Given the description of an element on the screen output the (x, y) to click on. 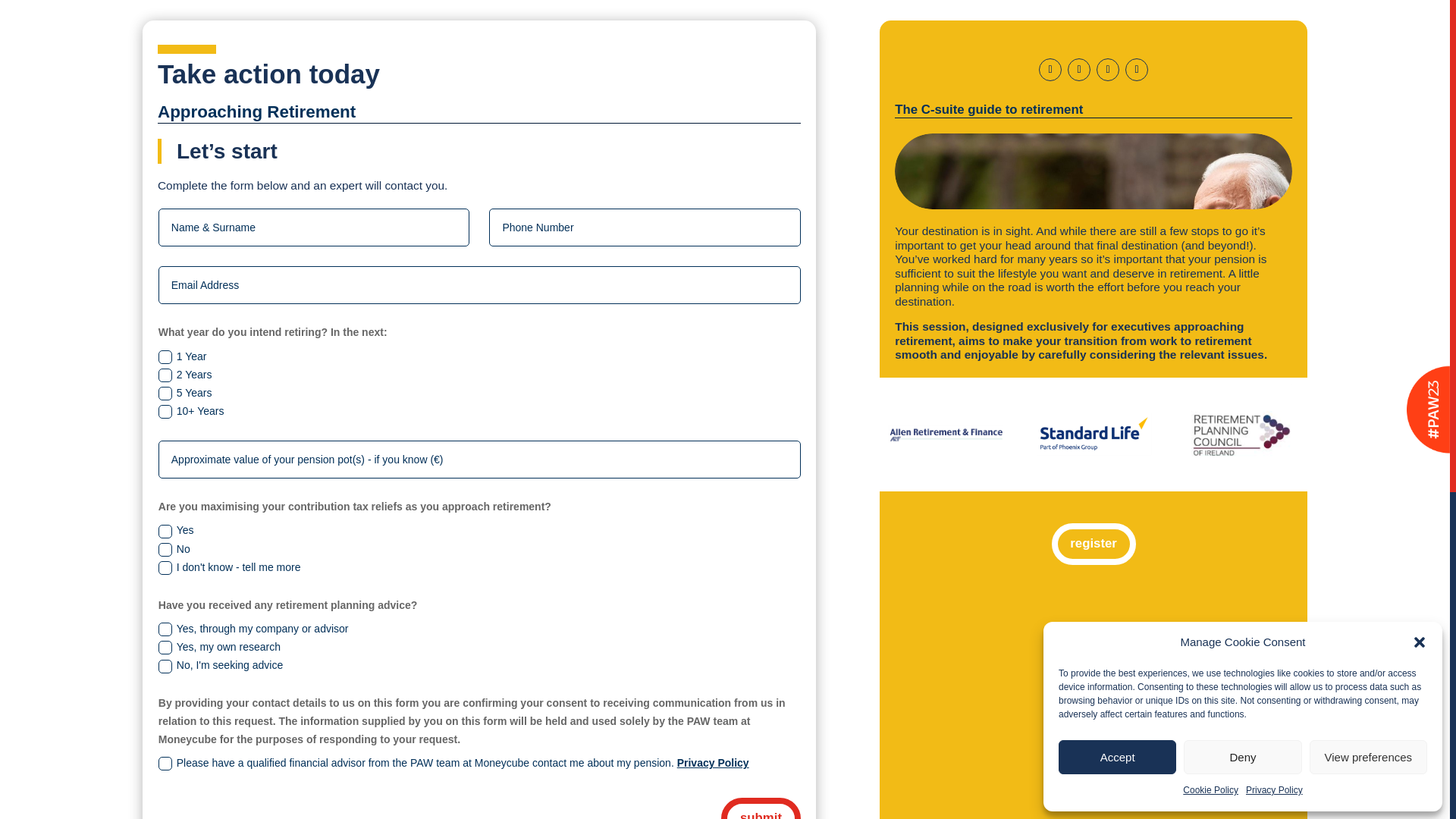
Follow on Facebook (1050, 69)
Follow on X (1078, 69)
Only numbers allowed. (644, 227)
Accept (1117, 756)
Follow on LinkedIn (1107, 69)
Cookie Policy (1210, 791)
View preferences (1367, 756)
Deny (1242, 756)
Privacy Policy (1274, 791)
Follow on Instagram (1136, 69)
